Given the description of an element on the screen output the (x, y) to click on. 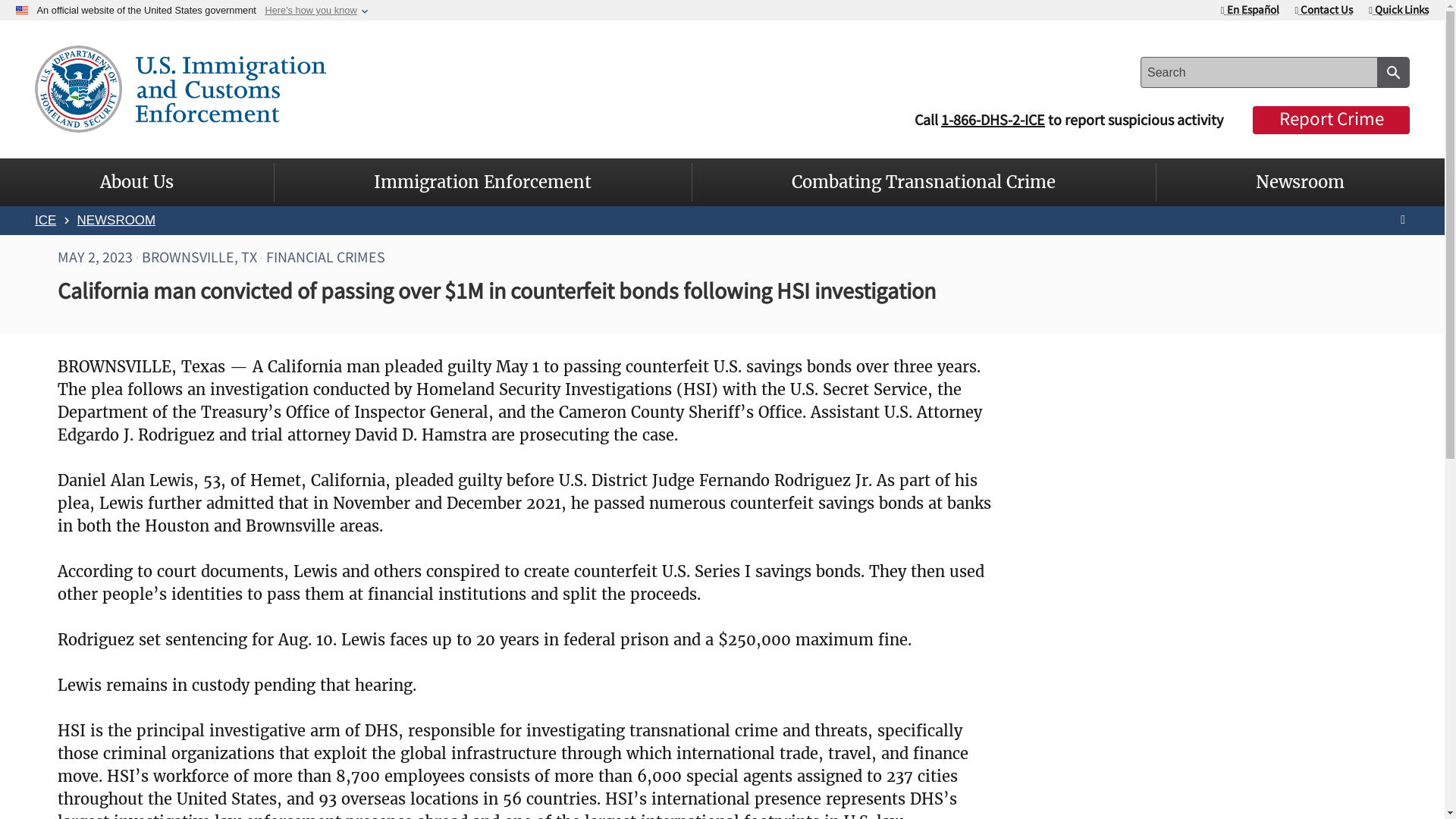
Here's how you know (310, 9)
Click to search ICE.gov (1393, 71)
Immigration Enforcement (482, 182)
Contact Us (1324, 9)
1-866-DHS-2-ICE (992, 119)
Enter the terms you wish to search for. (1258, 71)
Home (180, 86)
Click here to open the Immigration Enforcement menu (482, 182)
About Us (136, 182)
Report Crime (1330, 120)
Quick Links (1398, 9)
Click here to open the About Us menu (136, 182)
